Given the description of an element on the screen output the (x, y) to click on. 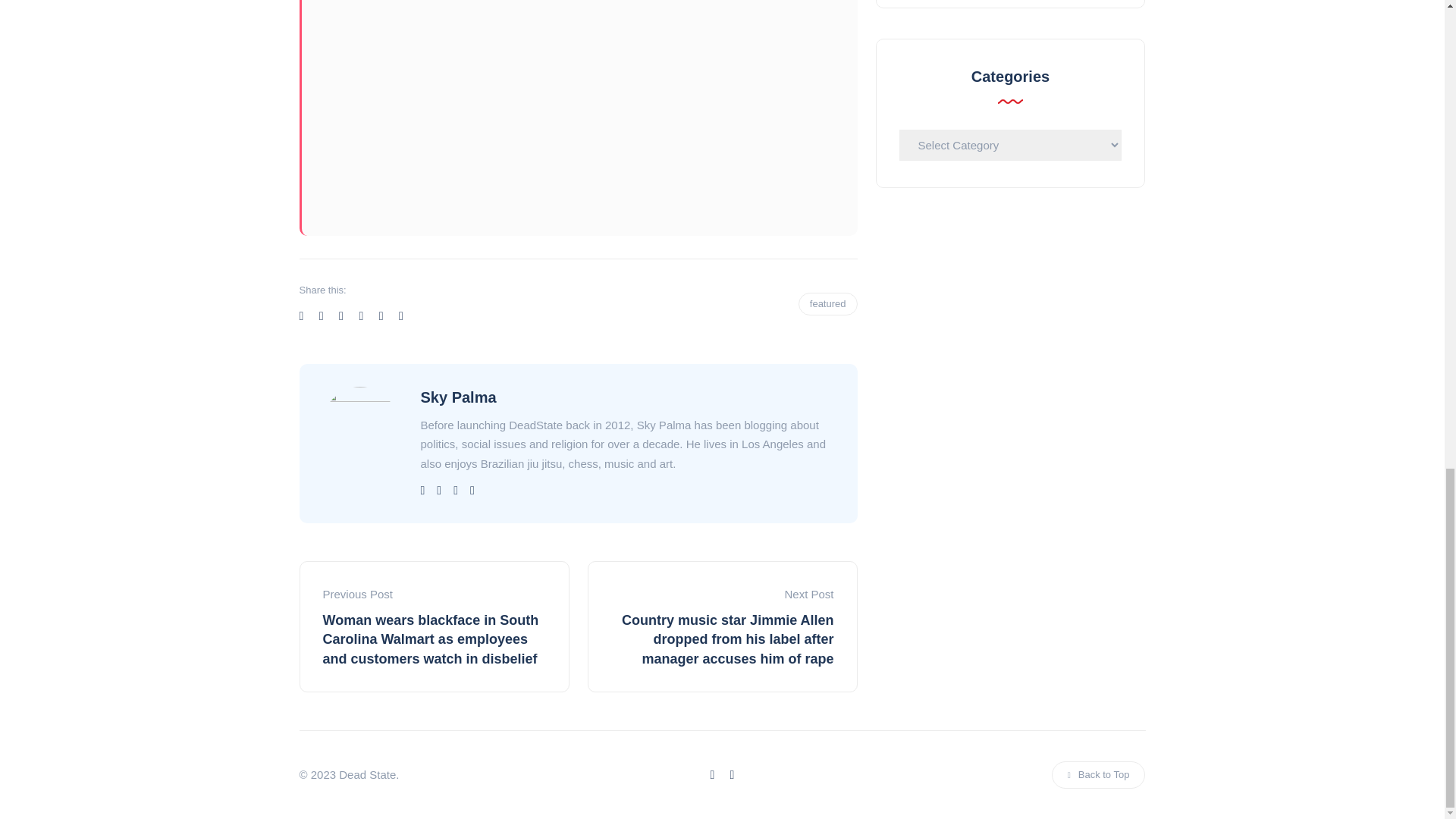
Sky Palma (458, 397)
featured (827, 303)
